Given the description of an element on the screen output the (x, y) to click on. 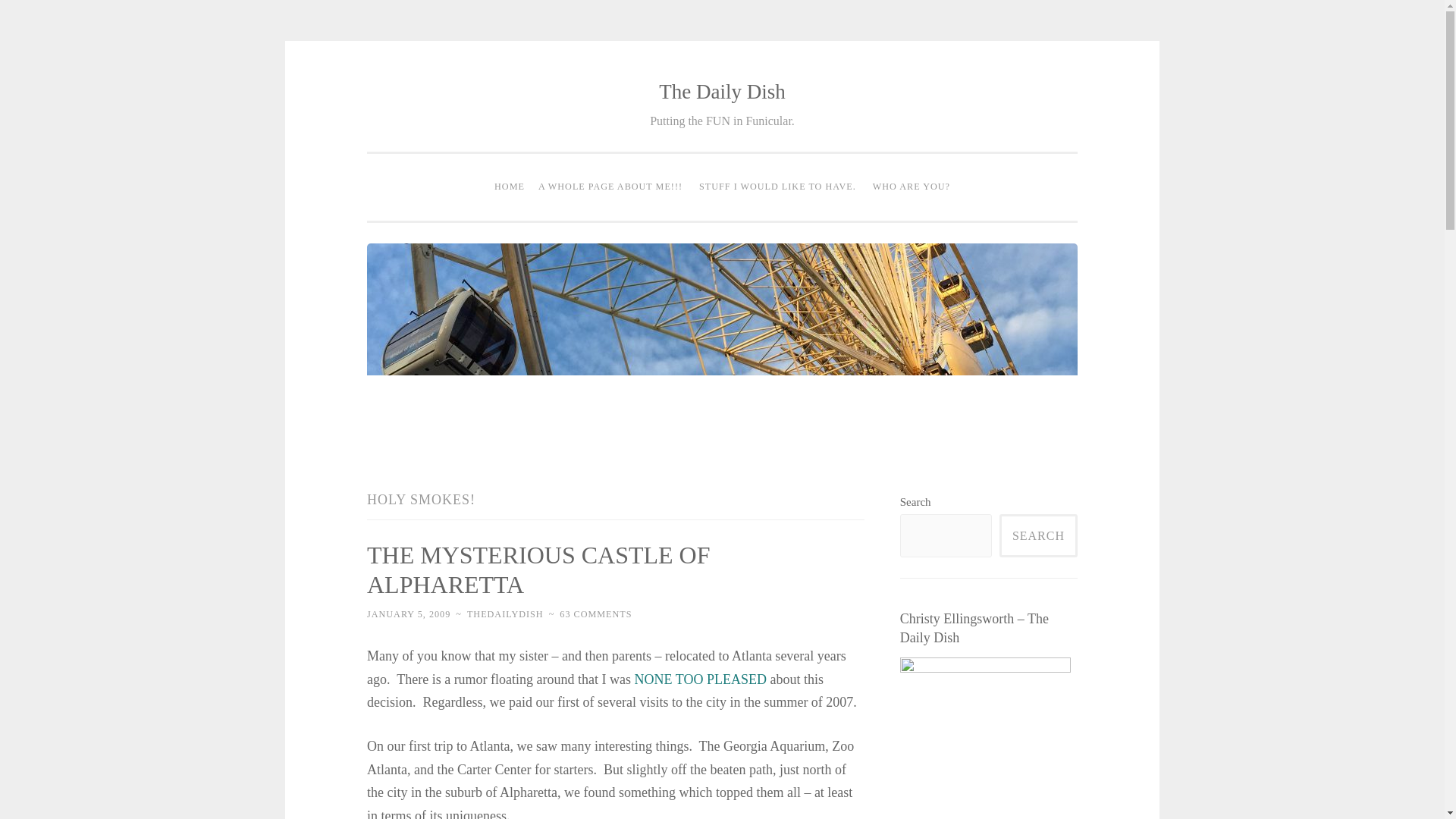
Christy Ellingsworth - The Daily Dish (984, 738)
STUFF I WOULD LIKE TO HAVE. (778, 186)
63 COMMENTS (595, 614)
The Daily Dish (721, 91)
JANUARY 5, 2009 (407, 614)
THE MYSTERIOUS CASTLE OF ALPHARETTA (538, 569)
SEARCH (1037, 535)
NONE TOO PLEASED (700, 679)
WHO ARE YOU? (911, 186)
THEDAILYDISH (505, 614)
A WHOLE PAGE ABOUT ME!!! (609, 186)
HOME (509, 186)
